Given the description of an element on the screen output the (x, y) to click on. 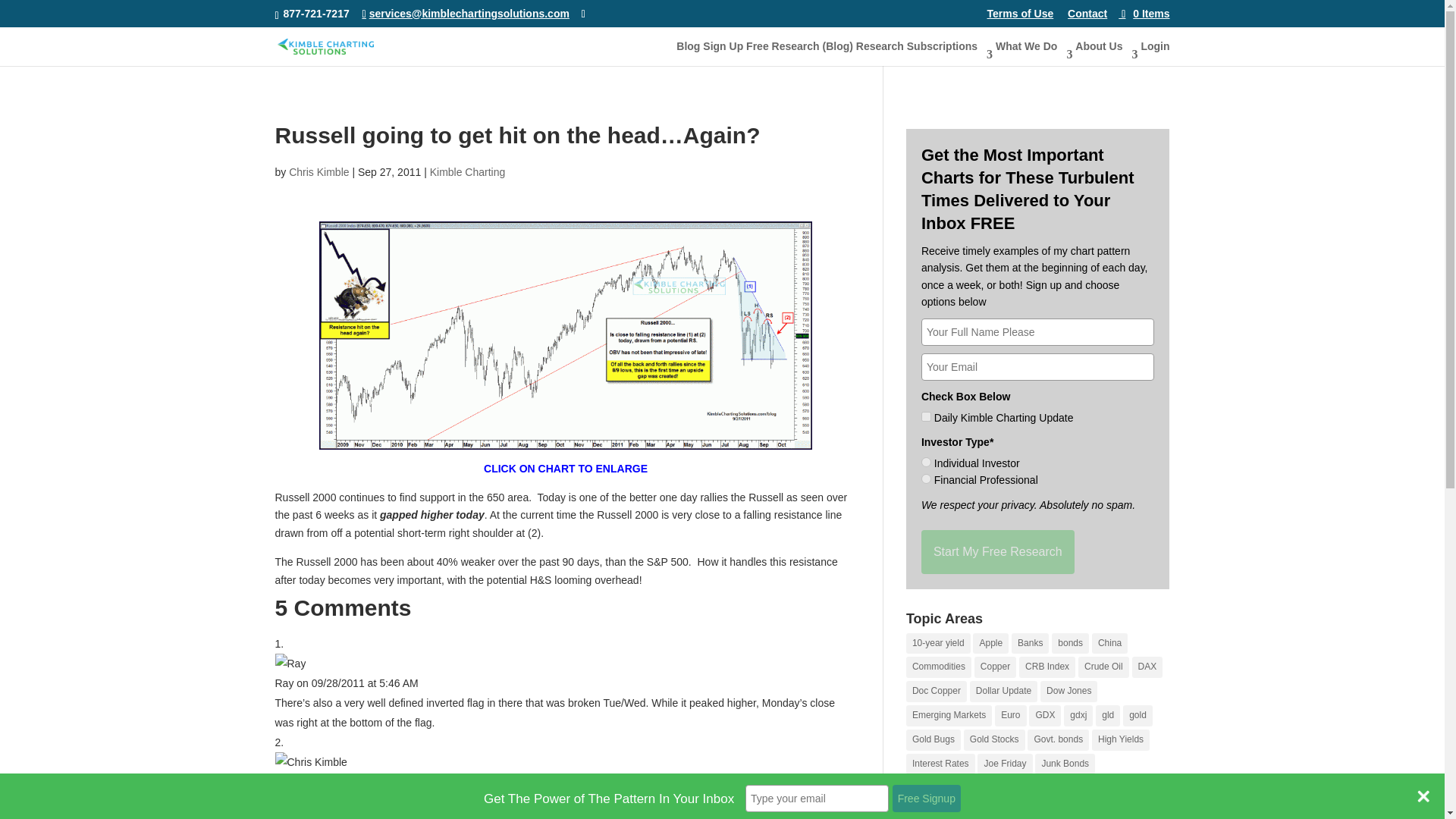
Contact (1086, 16)
Research Subscriptions (924, 52)
About Us (1106, 52)
Financial Professional (926, 479)
Terms of Use (1020, 16)
0 Items (1143, 13)
What We Do (1033, 52)
Individual Investor (926, 461)
Login (1154, 52)
Blog Sign Up (709, 52)
Daily Kimble Charting Update (926, 416)
Posts by Chris Kimble (318, 172)
russelllowerhighsbullhitontheheadsept27 (565, 335)
